Given the description of an element on the screen output the (x, y) to click on. 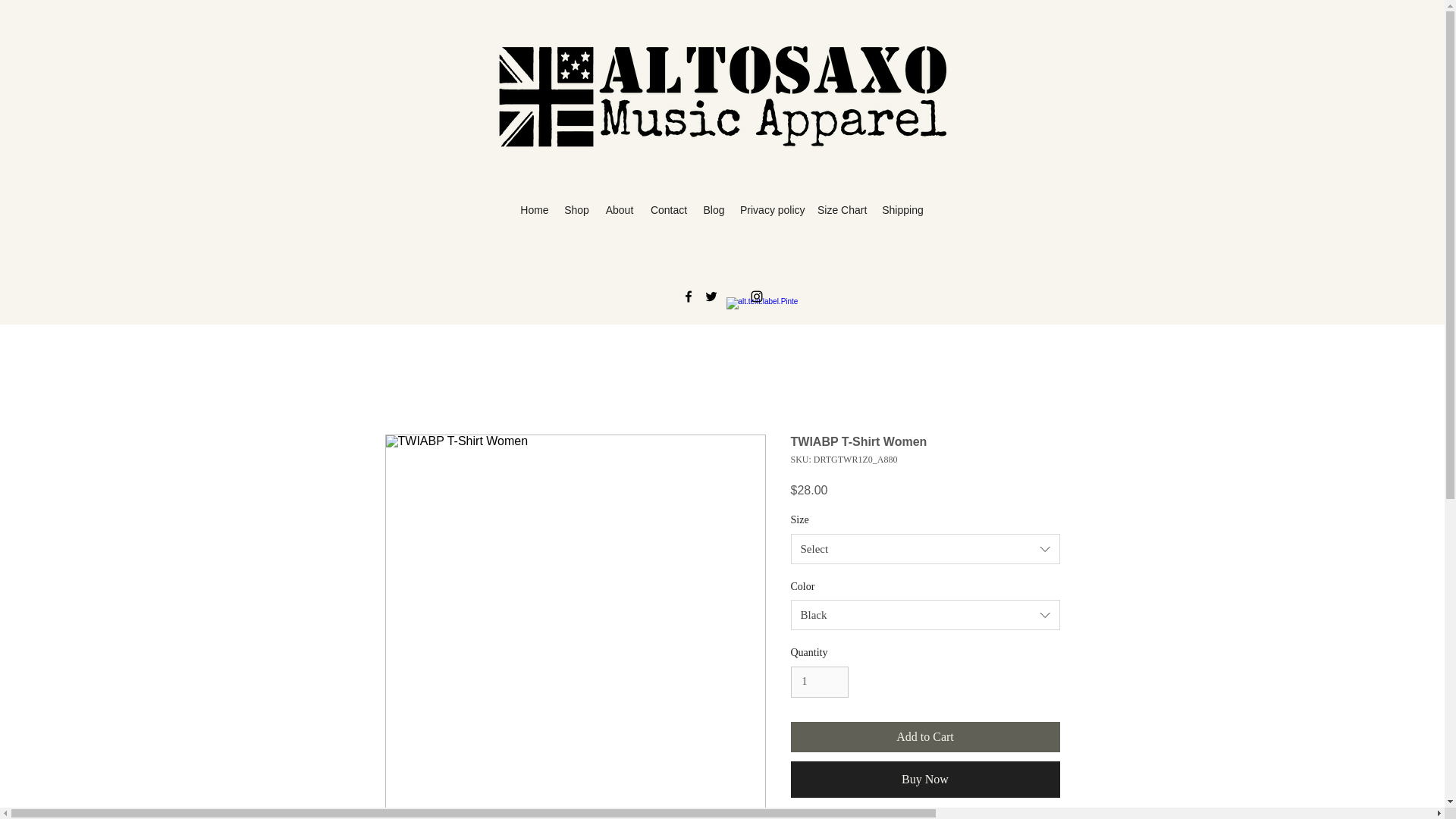
Buy Now (924, 779)
About (619, 210)
Select (924, 548)
1 (818, 681)
Black (924, 614)
Privacy policy (770, 210)
Add to Cart (924, 736)
Size Chart (841, 210)
Contact (668, 210)
Shipping (902, 210)
